Given the description of an element on the screen output the (x, y) to click on. 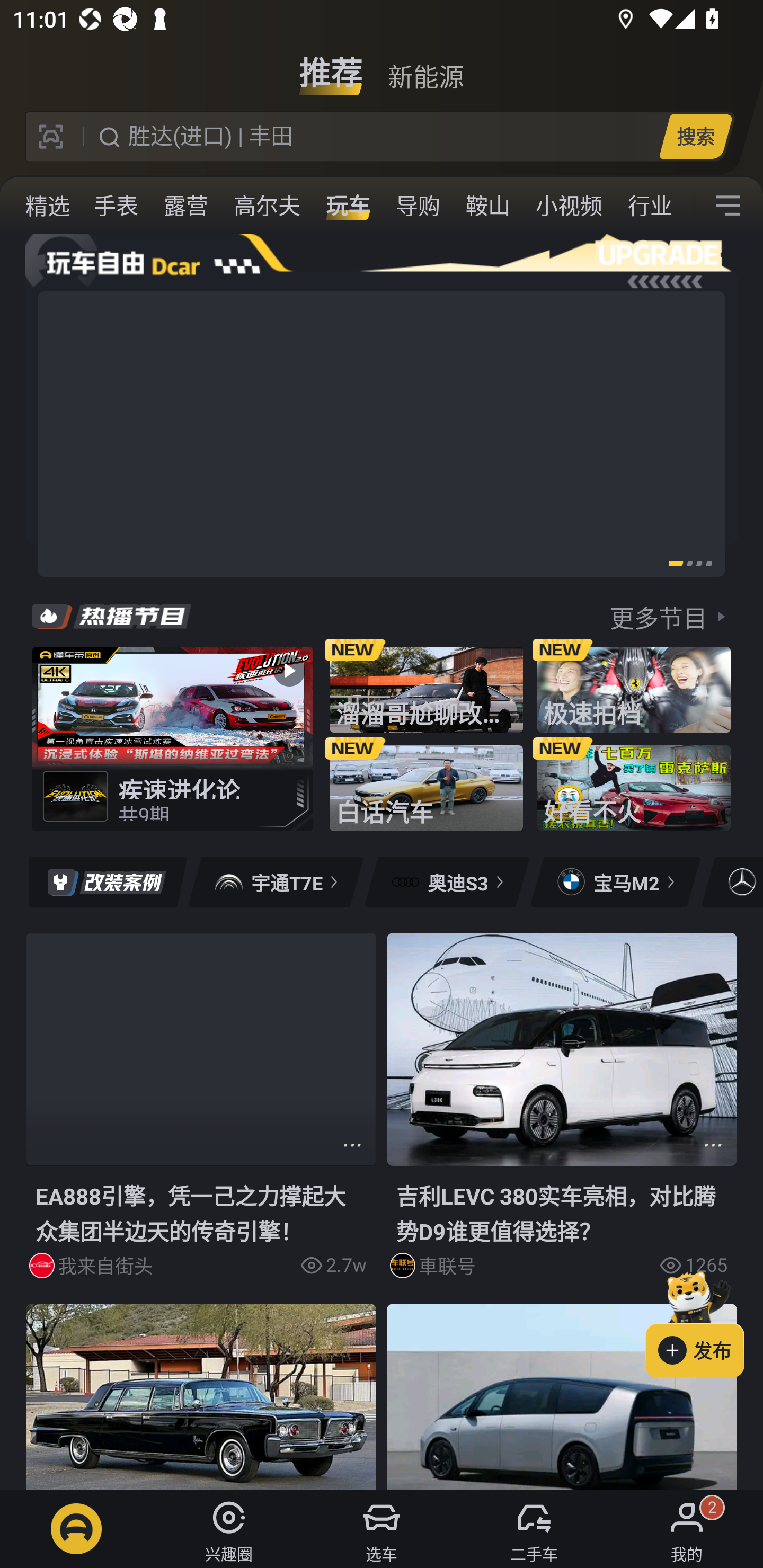
推荐 (330, 65)
新能源 (425, 65)
搜索 (695, 136)
原创 (45, 205)
手表 (115, 205)
露营 (186, 205)
高尔夫 (266, 205)
玩车 (347, 205)
导购 (418, 205)
鞍山 (487, 205)
小视频 (568, 205)
行业 (649, 205)
 (727, 205)
更多节目 (669, 616)
吉利LEVC 380实车亮相，对比腾势D9谁更值得选择？ 車联号 < >1265 (561, 1117)
EA888引擎，凭一己之力撑起大众集团半边天的传奇引擎！ (201, 1212)
吉利LEVC 380实车亮相，对比腾势D9谁更值得选择？ (561, 1212)
我来自街头 (173, 1265)
車联号 (534, 1265)
发布 (704, 1320)
 兴趣圈 (228, 1528)
 选车 (381, 1528)
 二手车 (533, 1528)
 我的 (686, 1528)
